Given the description of an element on the screen output the (x, y) to click on. 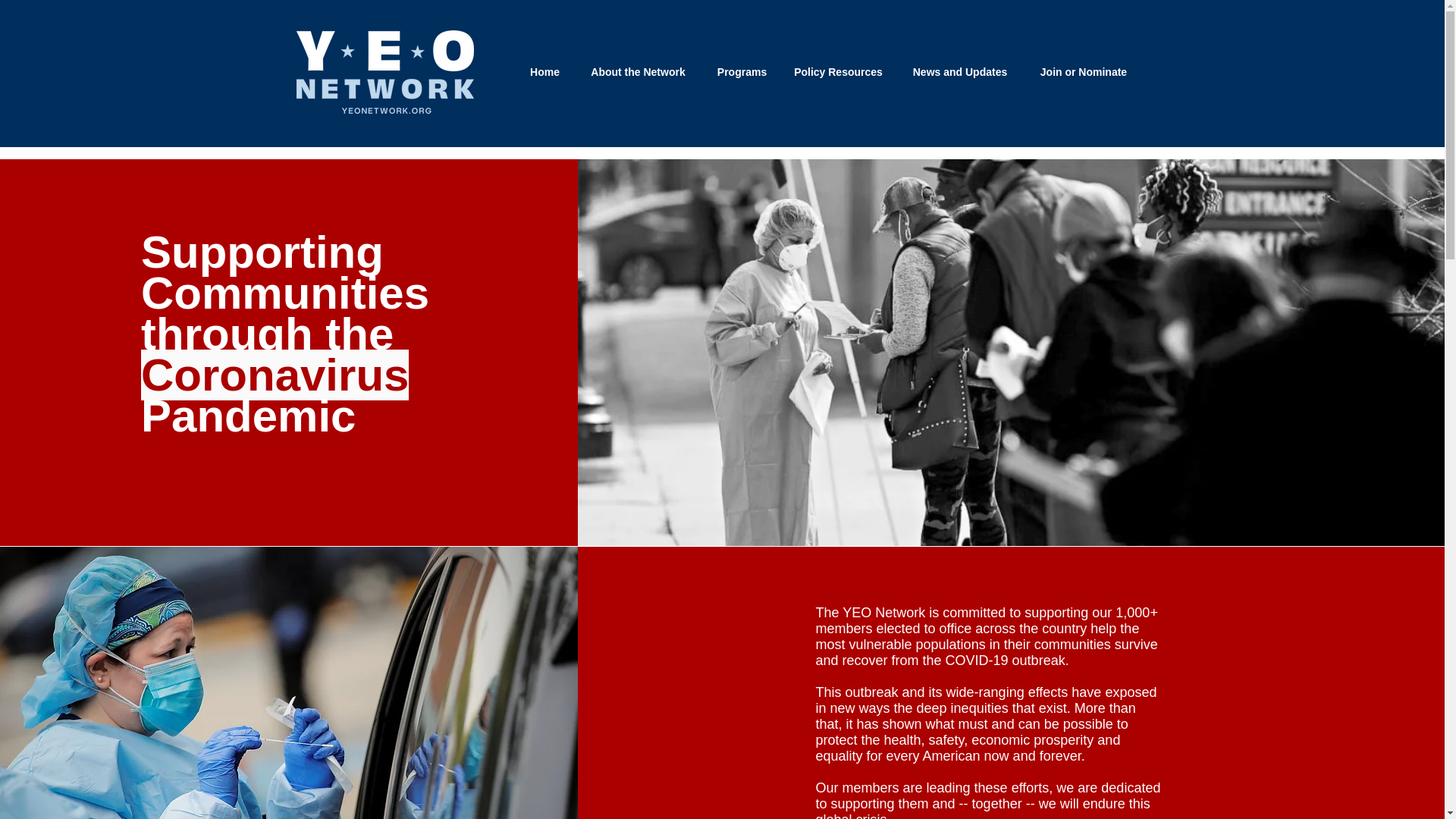
Home (544, 71)
Join or Nominate (1082, 71)
